Given the description of an element on the screen output the (x, y) to click on. 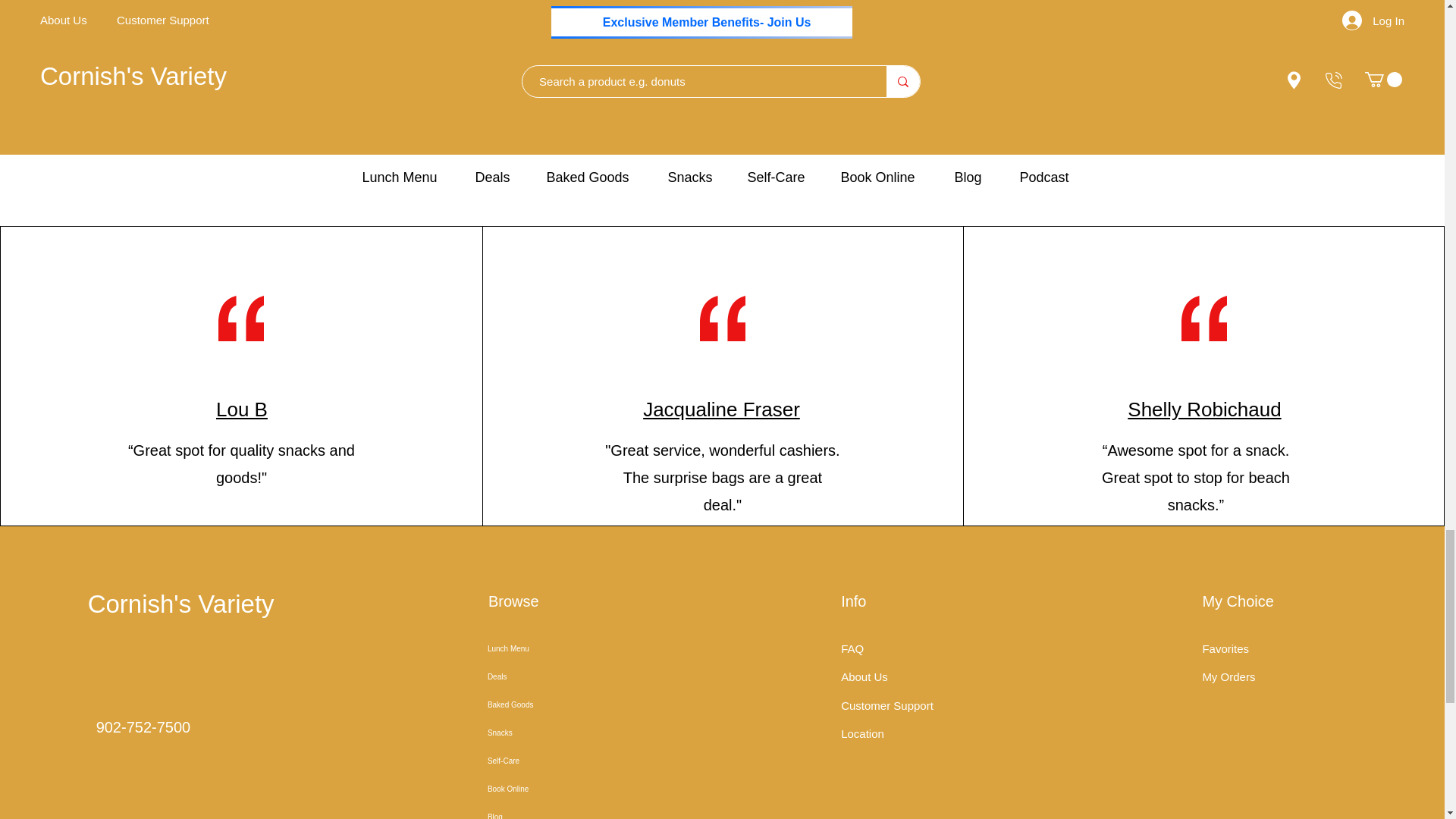
Add to Cart (451, 152)
Change your psychology? (992, 24)
Add to Cart (991, 152)
1 (720, 114)
Great deal (721, 24)
Add to Cart (181, 152)
Great Coffee (181, 24)
Add to Cart (721, 152)
1 (991, 114)
1 (451, 114)
